Given the description of an element on the screen output the (x, y) to click on. 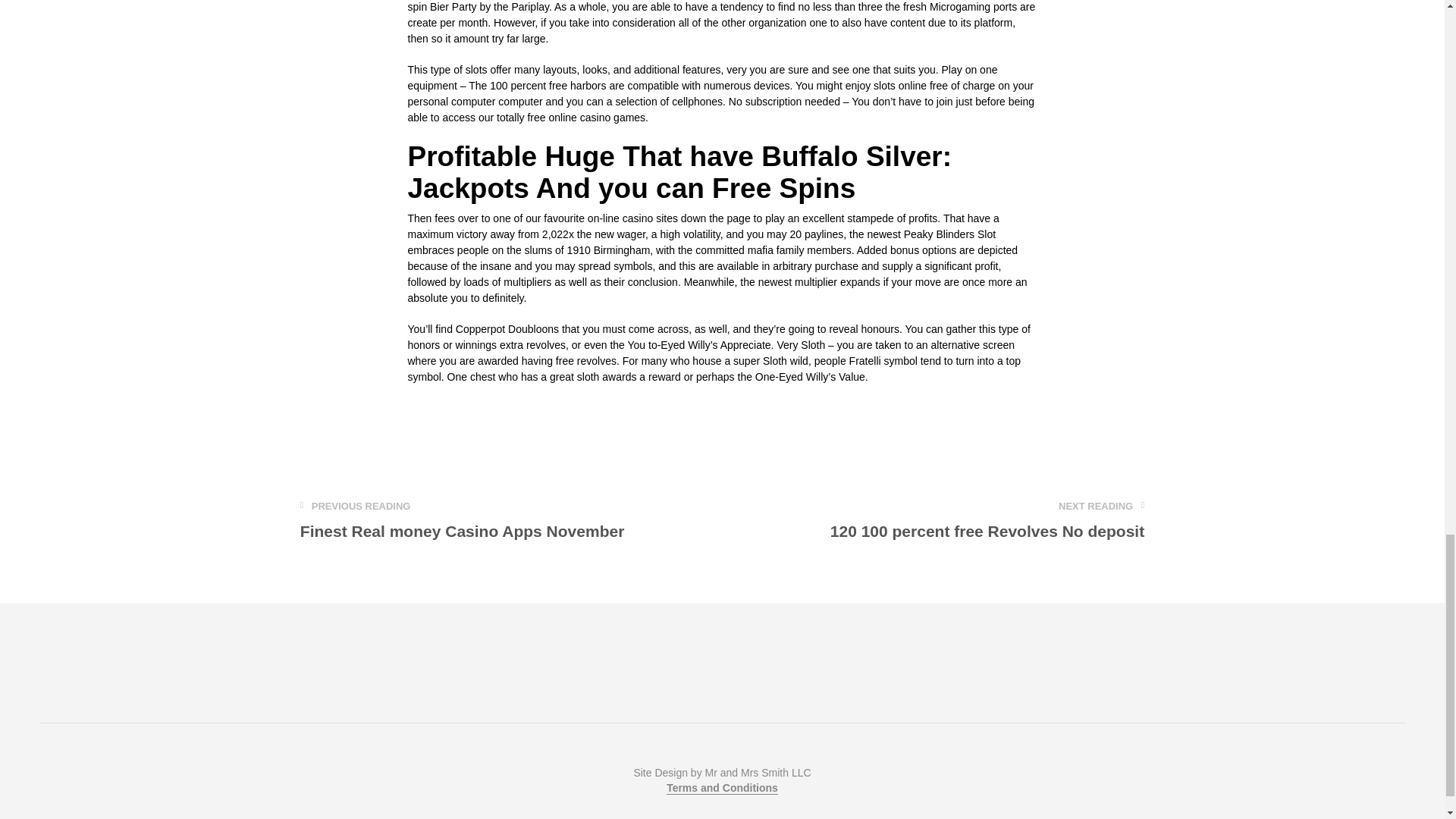
Terms and Conditions (986, 521)
